Given the description of an element on the screen output the (x, y) to click on. 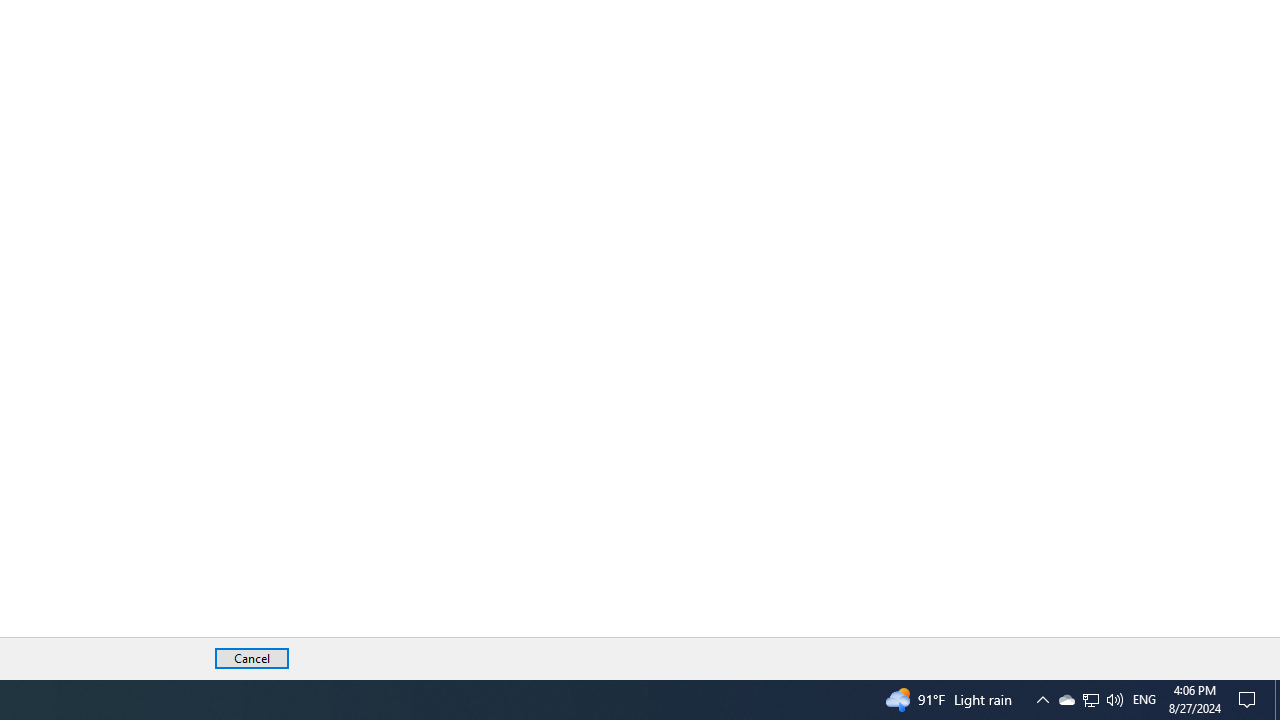
Cancel (251, 658)
Tray Input Indicator - English (United States) (1144, 699)
Show desktop (1277, 699)
Action Center, No new notifications (1250, 699)
Q2790: 100% (1114, 699)
Notification Chevron (1091, 699)
User Promoted Notification Area (1042, 699)
